Given the description of an element on the screen output the (x, y) to click on. 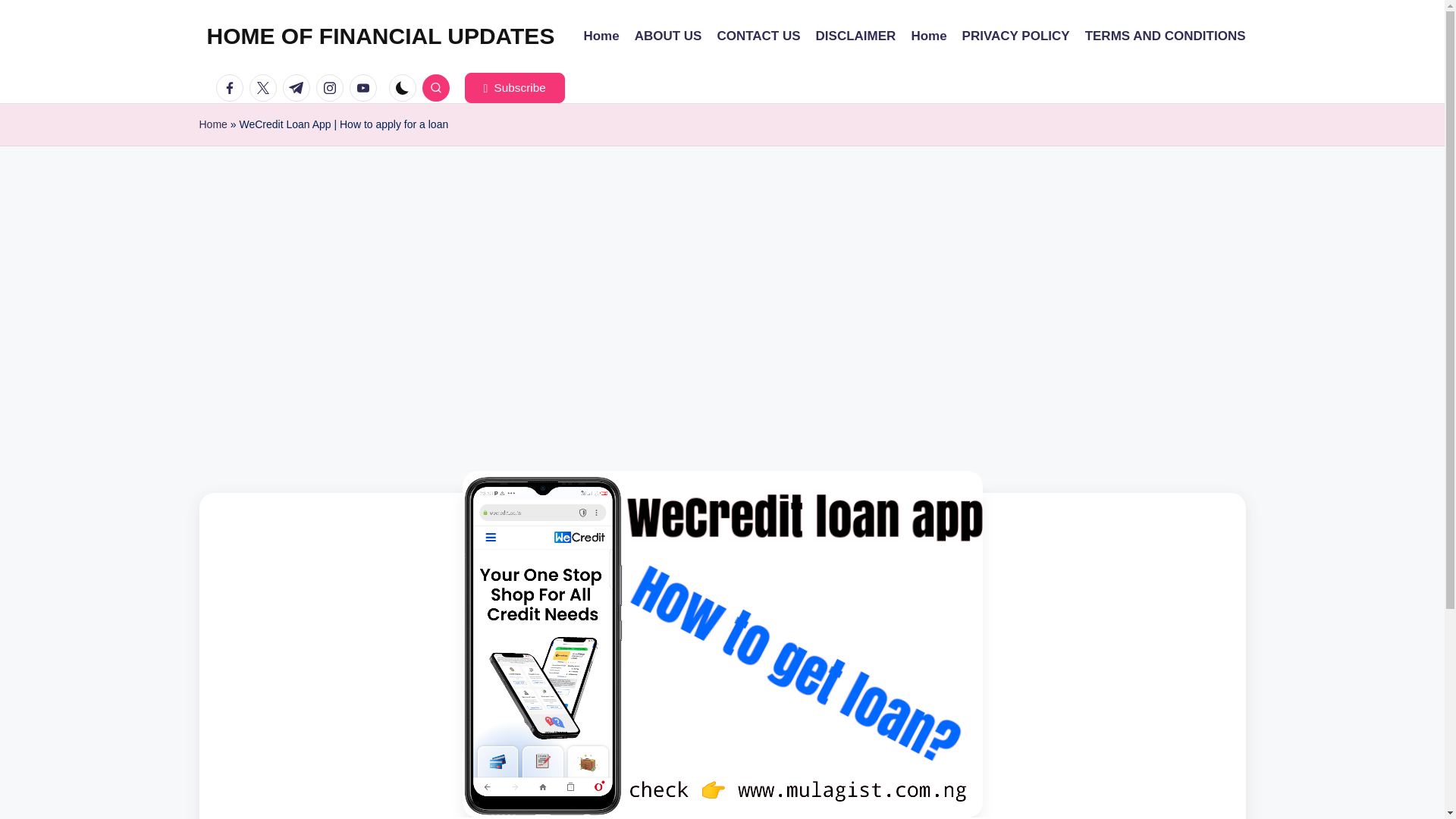
TERMS AND CONDITIONS (1165, 36)
ABOUT US (667, 36)
PRIVACY POLICY (1016, 36)
Home (600, 36)
Home (212, 124)
t.me (298, 87)
instagram.com (332, 87)
Subscribe (514, 87)
twitter.com (265, 87)
HOME OF FINANCIAL UPDATES (380, 36)
CONTACT US (757, 36)
Home (928, 36)
DISCLAIMER (855, 36)
youtube.com (365, 87)
facebook.com (231, 87)
